Given the description of an element on the screen output the (x, y) to click on. 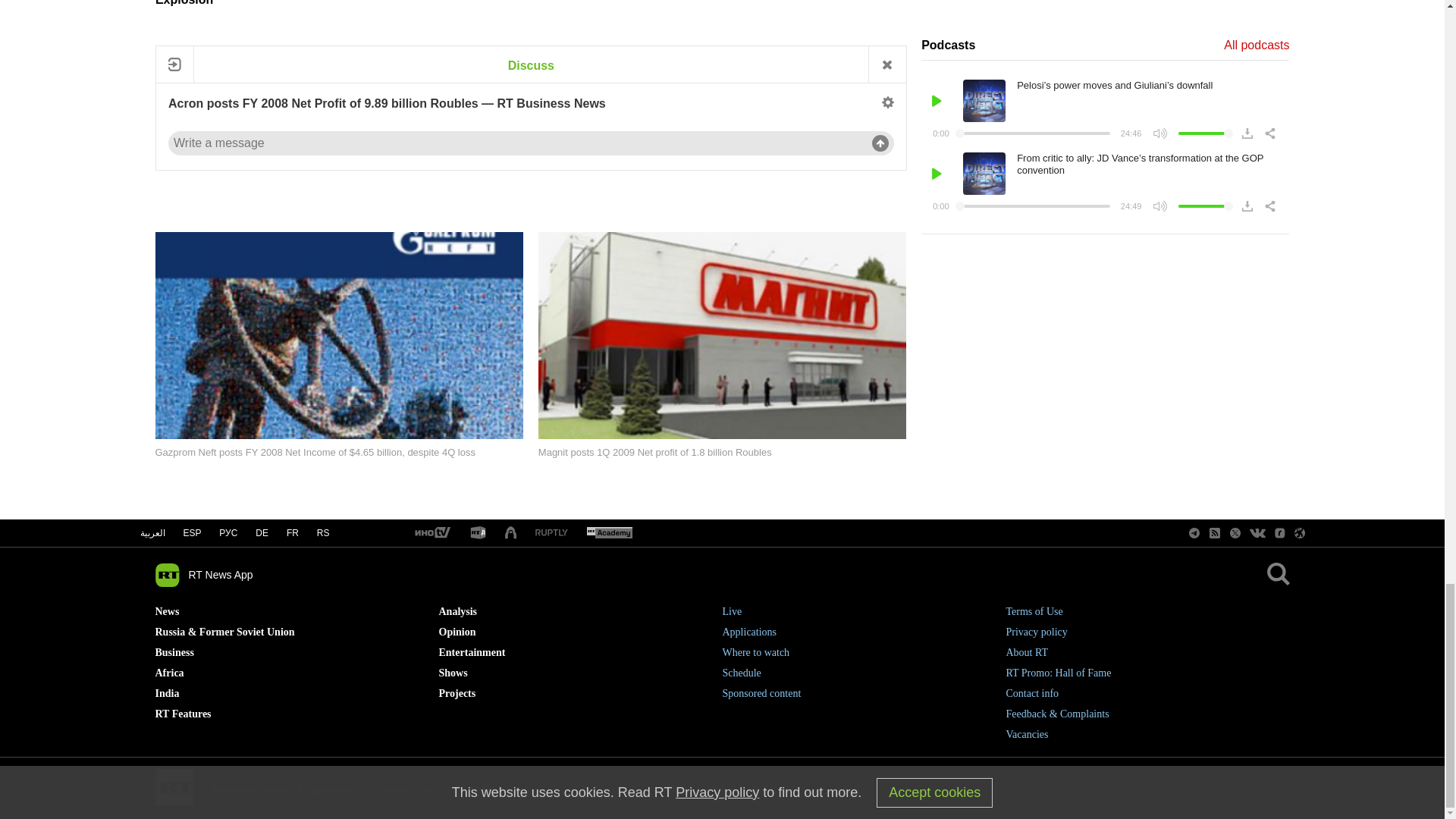
RT  (608, 533)
RT  (551, 533)
RT  (478, 533)
RT  (431, 533)
